Given the description of an element on the screen output the (x, y) to click on. 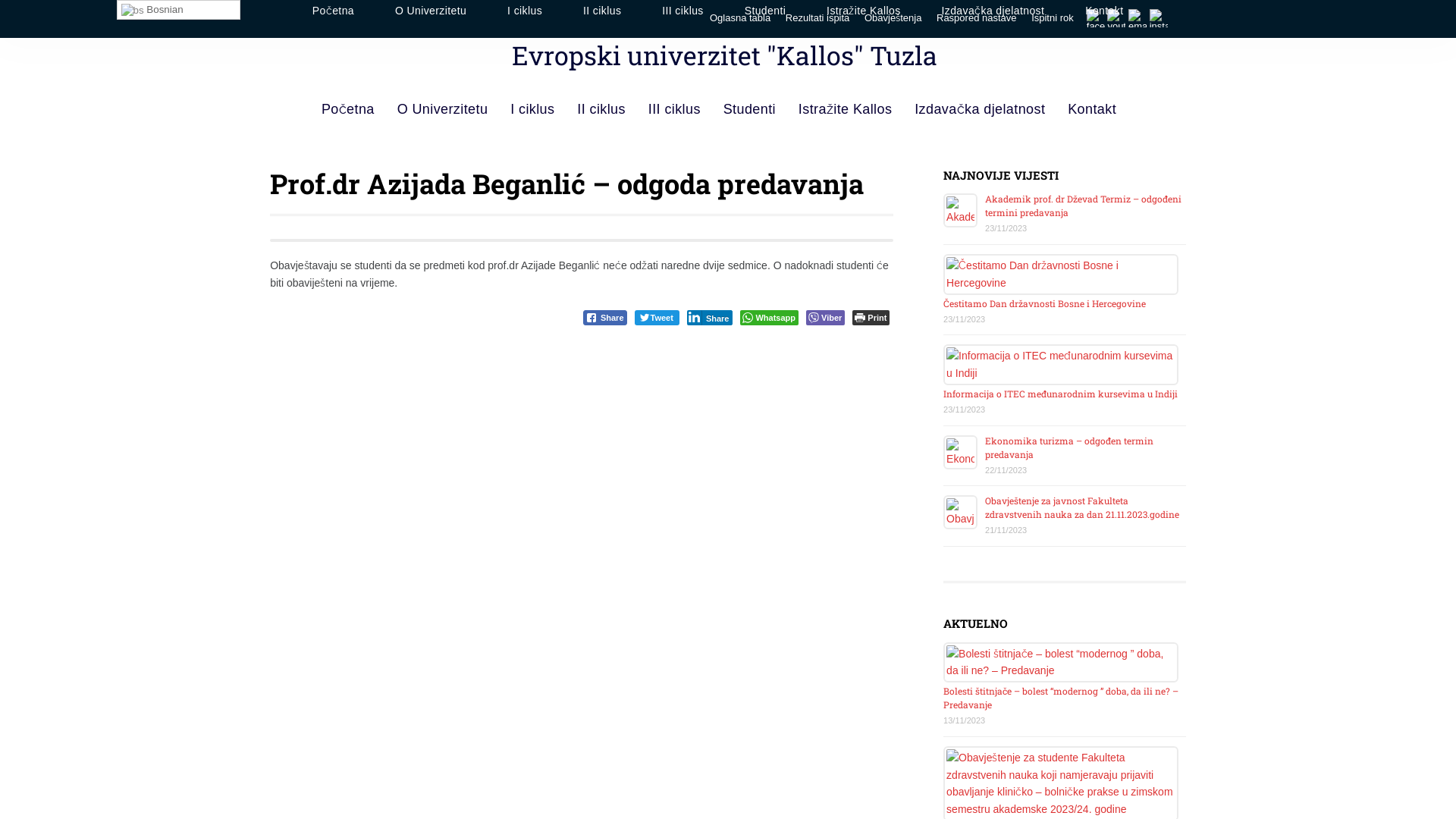
Share Element type: text (710, 317)
Share Element type: text (605, 317)
Facebook Element type: hover (1095, 18)
Whatsapp Element type: text (769, 317)
Raspored nastave Element type: text (976, 17)
Evropski univerzitet "Kallos" Tuzla Element type: text (727, 61)
Oglasna tabla Element type: text (739, 17)
I ciklus Element type: text (532, 109)
Bosnian Element type: text (178, 9)
Print Element type: text (870, 317)
Viber Icon
Viber Element type: text (825, 317)
Rezultati ispita Element type: text (817, 17)
You Tube Element type: hover (1116, 18)
III ciklus Element type: text (674, 109)
Tweet Element type: text (656, 317)
Kontakt Element type: text (1091, 109)
Instagram Element type: hover (1158, 18)
II ciklus Element type: text (601, 109)
O Univerzitetu Element type: text (442, 109)
Ispitni rok Element type: text (1052, 17)
Studenti Element type: text (749, 109)
Email Element type: hover (1137, 18)
